Given the description of an element on the screen output the (x, y) to click on. 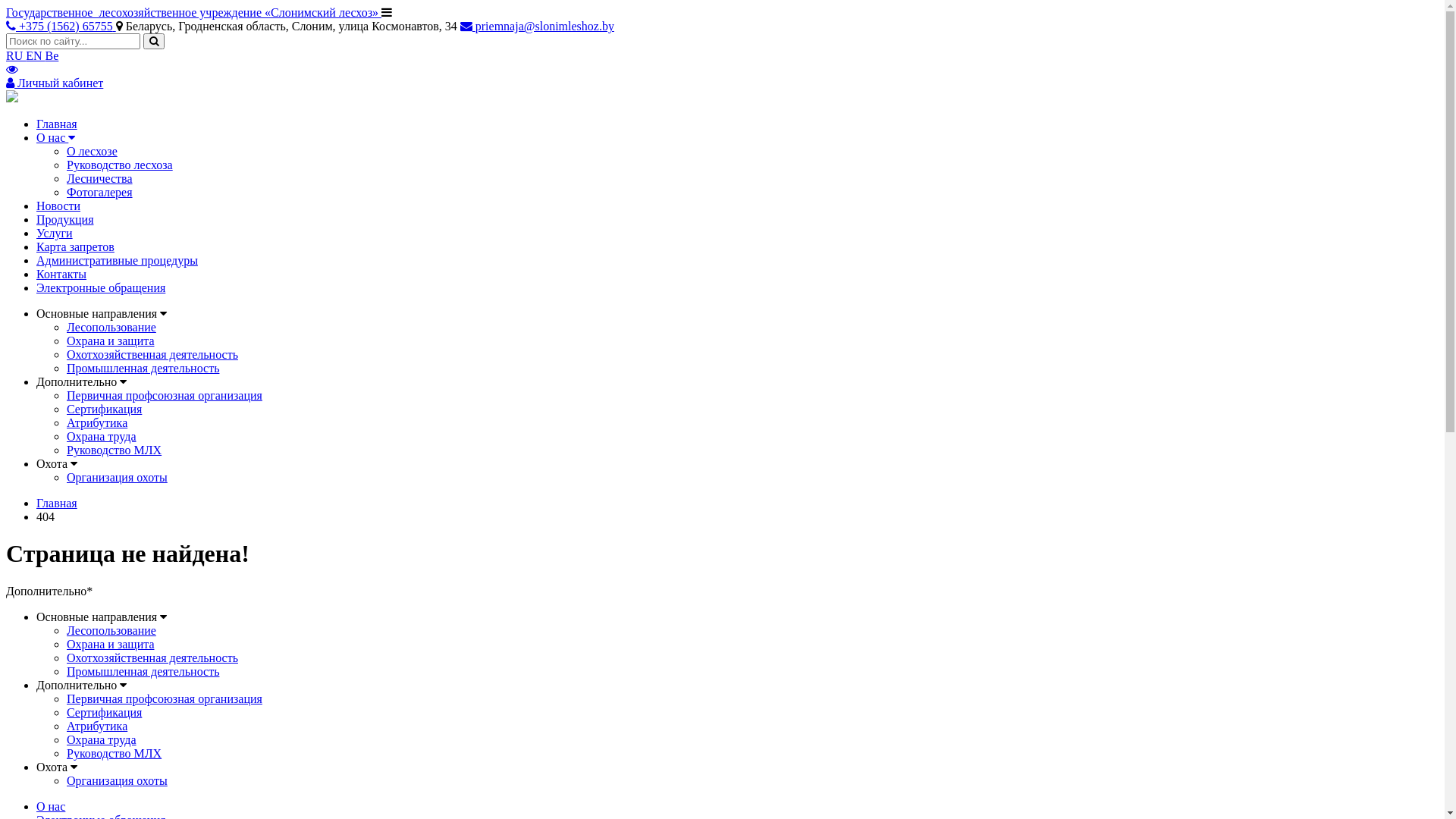
+375 (1562) 65755 Element type: text (61, 25)
RU Element type: text (15, 55)
priemnaja@slonimleshoz.by Element type: text (537, 25)
EN Element type: text (34, 55)
Be Element type: text (52, 55)
